Given the description of an element on the screen output the (x, y) to click on. 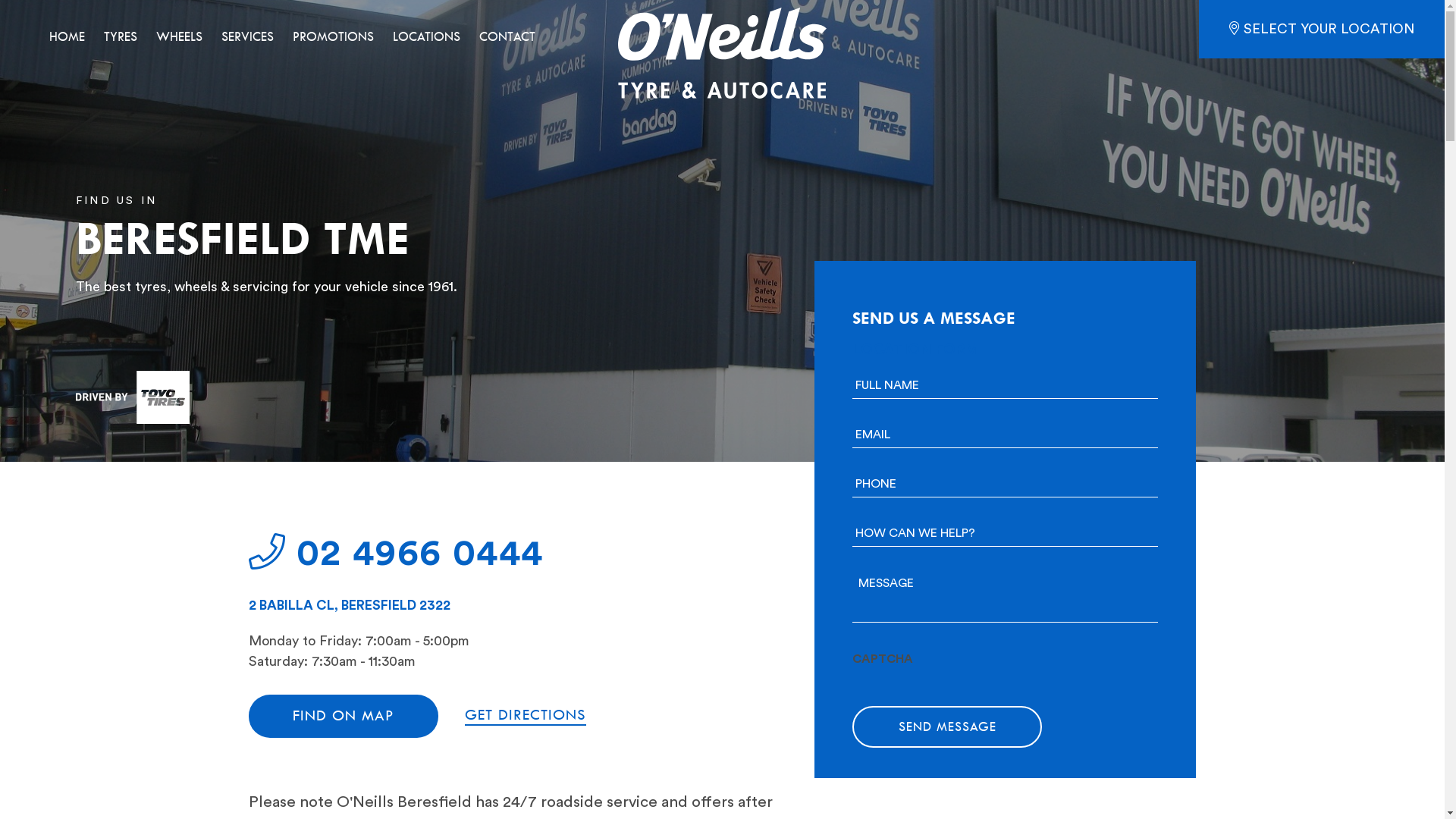
02 4966 0444 Element type: text (395, 553)
GET DIRECTIONS Element type: text (524, 715)
PROMOTIONS Element type: text (332, 38)
TYRES Element type: text (120, 38)
SERVICES Element type: text (247, 38)
SELECT YOUR LOCATION Element type: text (1321, 29)
WHEELS Element type: text (179, 38)
FIND ON MAP Element type: text (343, 715)
Send Message Element type: text (946, 727)
CONTACT Element type: text (507, 38)
HOME Element type: text (66, 38)
LOCATIONS Element type: text (426, 38)
